Given the description of an element on the screen output the (x, y) to click on. 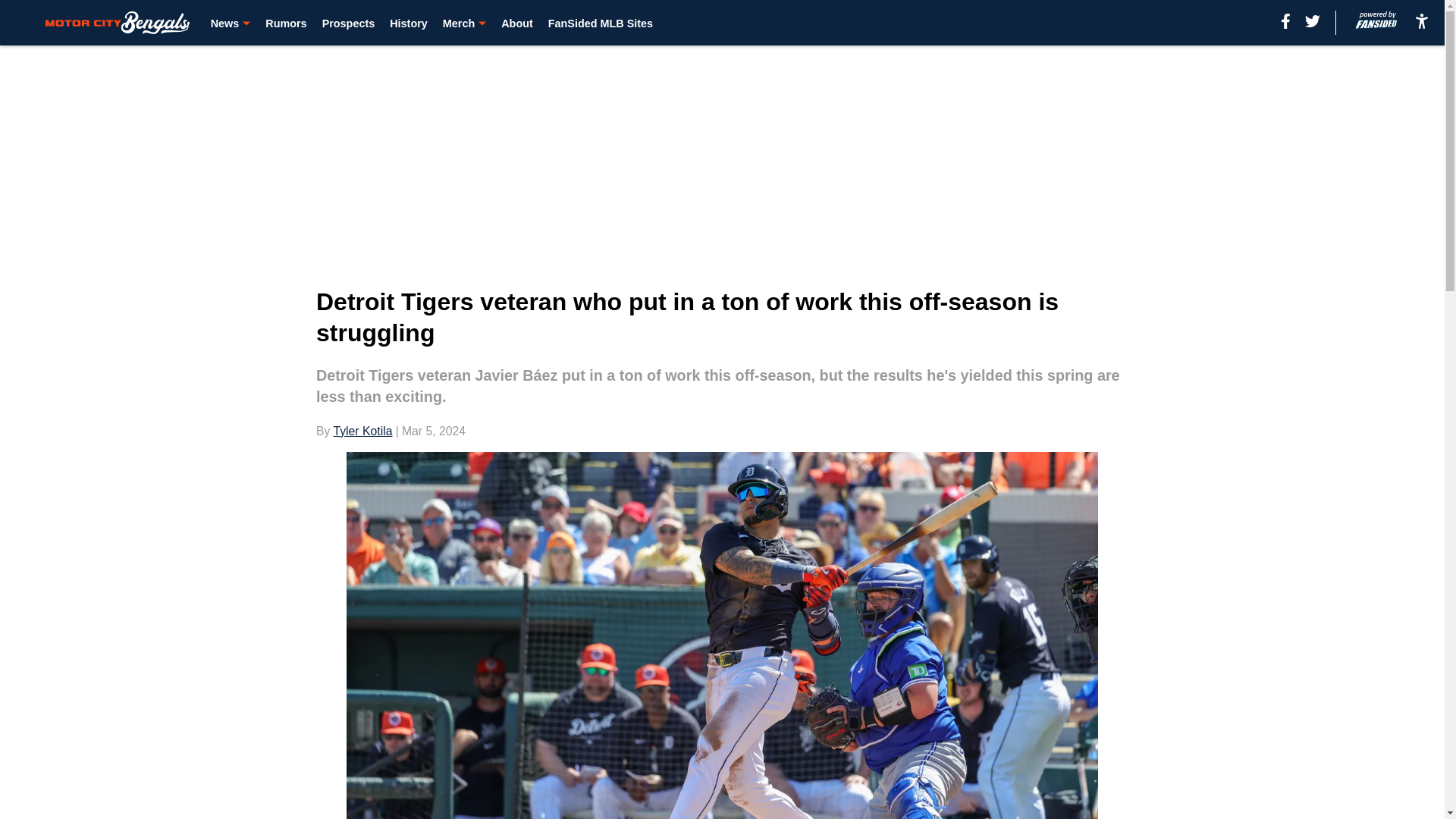
FanSided MLB Sites (600, 23)
Prospects (348, 23)
Rumors (284, 23)
About (516, 23)
Tyler Kotila (362, 431)
History (409, 23)
